Given the description of an element on the screen output the (x, y) to click on. 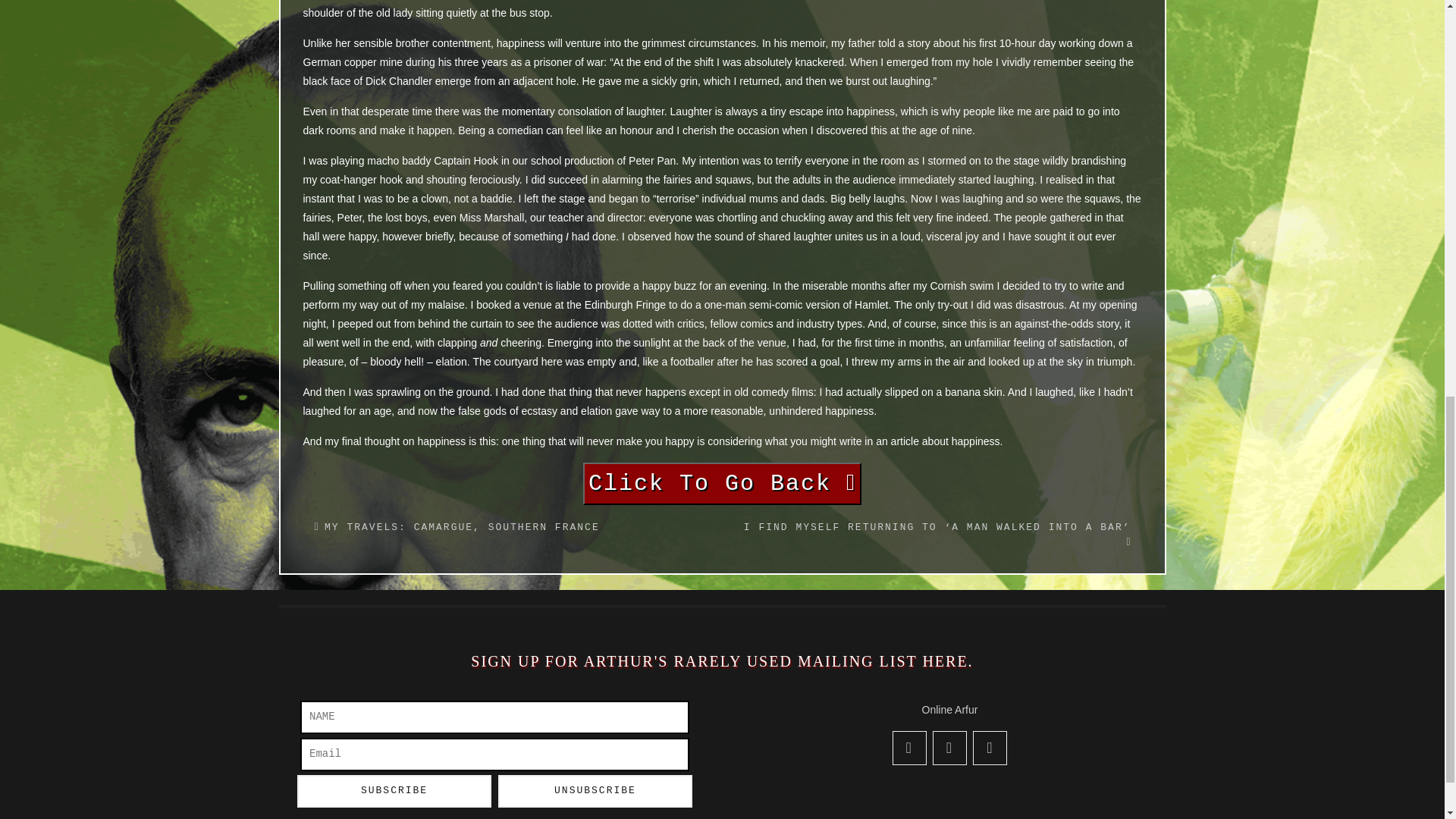
Unsubscribe (595, 790)
Click To Go Back (722, 484)
MY TRAVELS: CAMARGUE, SOUTHERN FRANCE (461, 527)
Subscribe (394, 790)
Subscribe (394, 790)
Unsubscribe (595, 790)
Click To Go Back (722, 487)
